Given the description of an element on the screen output the (x, y) to click on. 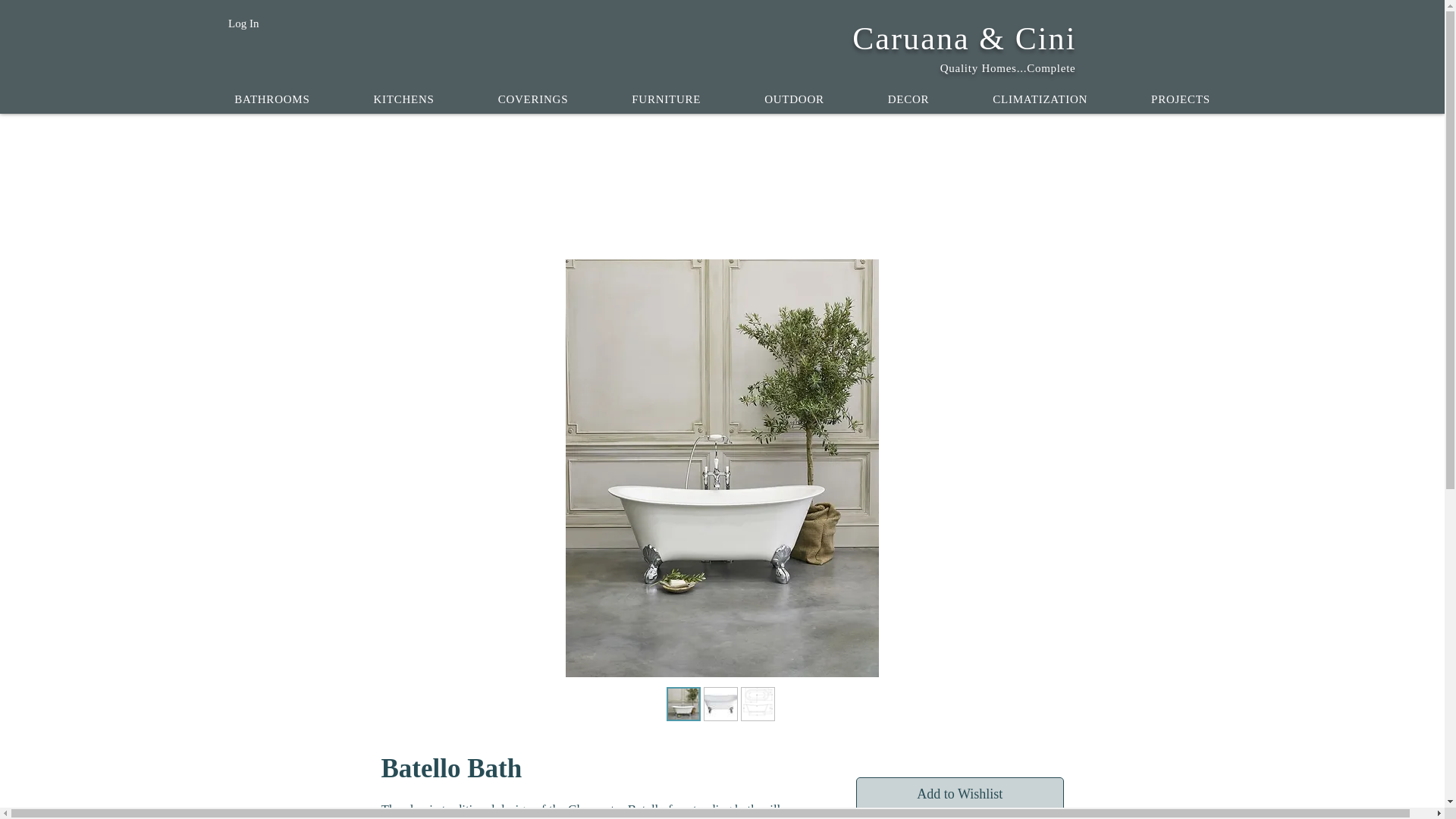
Log In (242, 23)
Quality Homes...Complete (1007, 67)
